Given the description of an element on the screen output the (x, y) to click on. 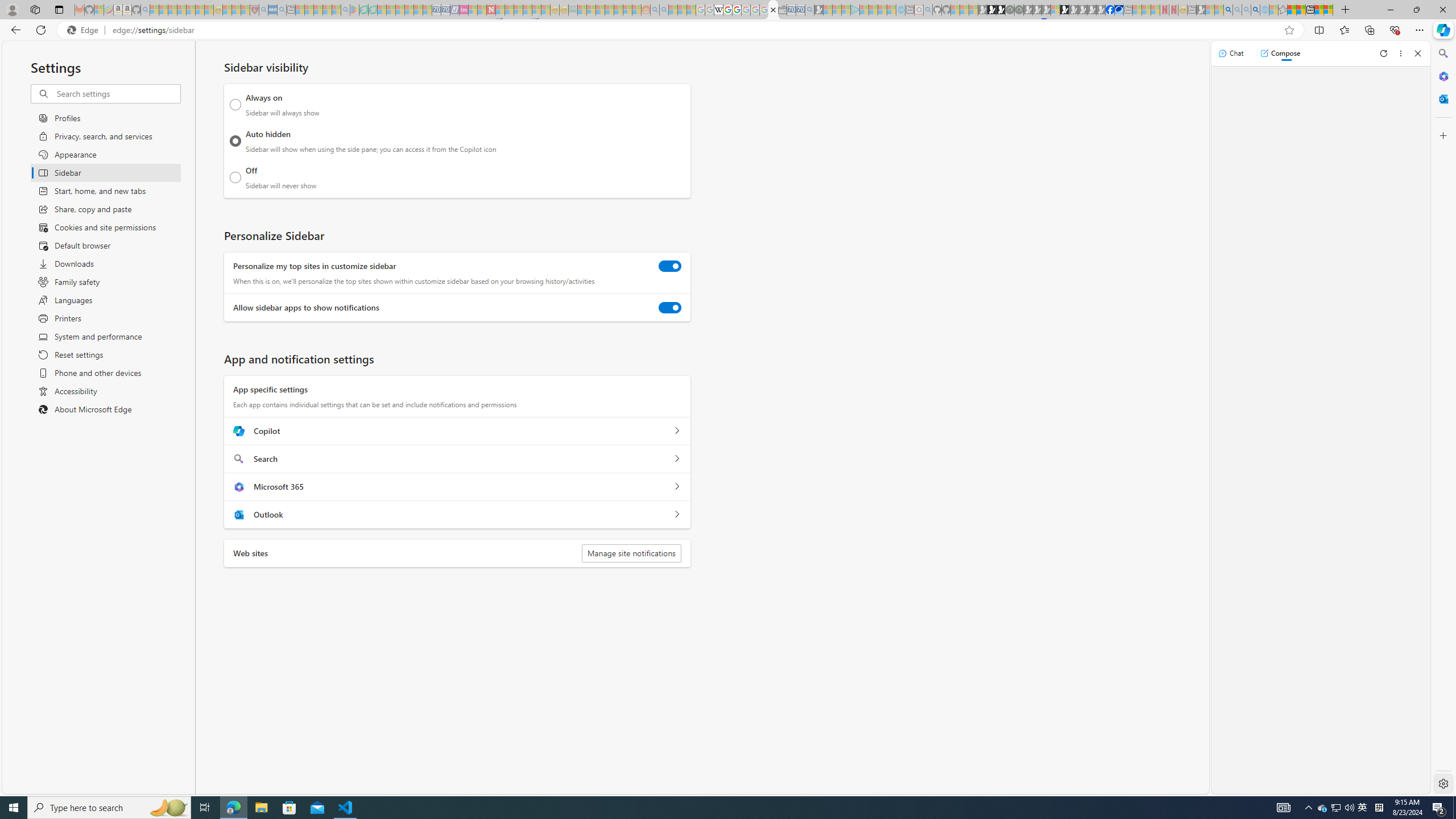
MSN - Sleeping (1200, 9)
Pets - MSN - Sleeping (326, 9)
Google Chrome Internet Browser Download - Search Images (1255, 9)
